Given the description of an element on the screen output the (x, y) to click on. 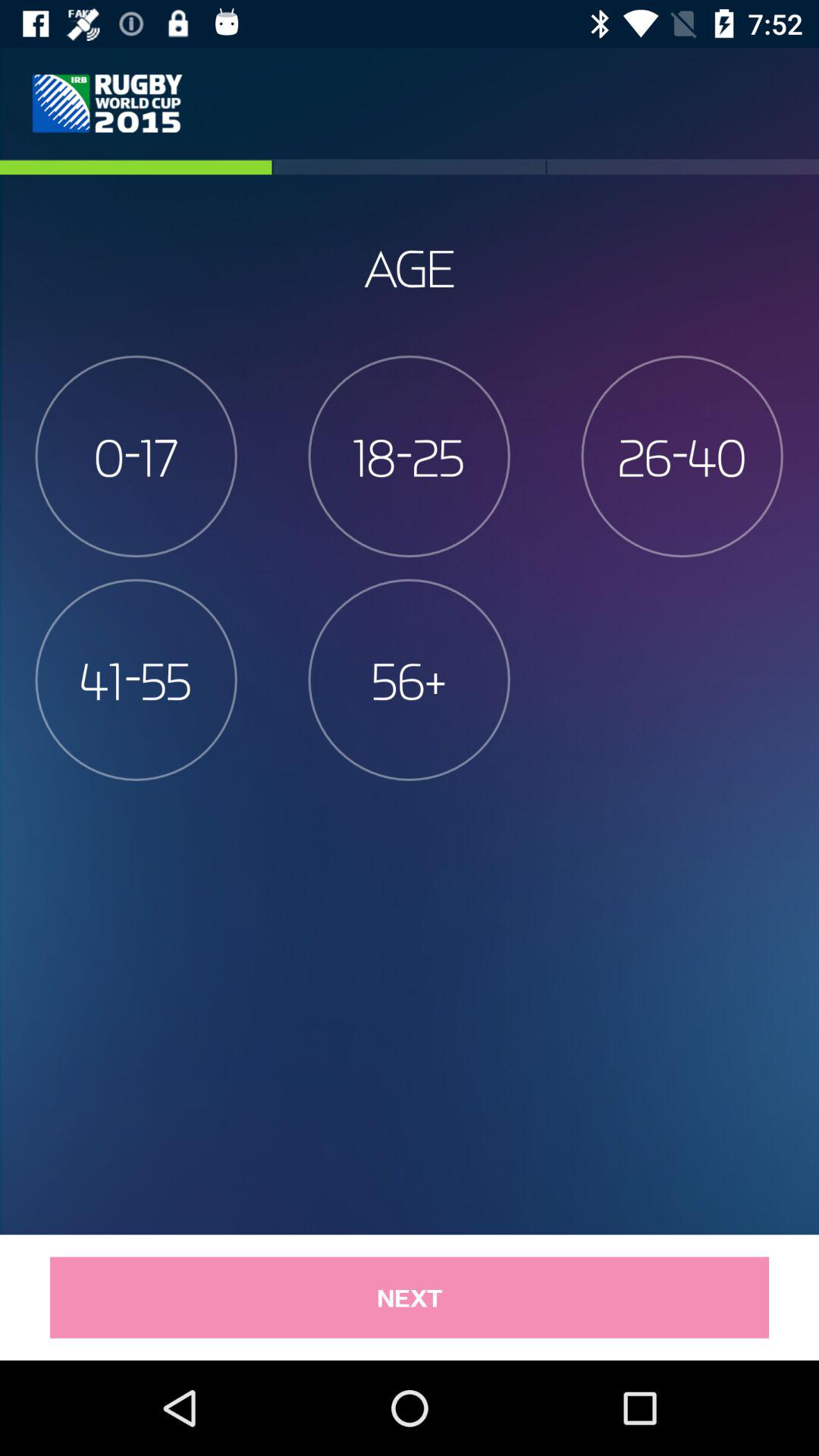
scroll to the next (409, 1297)
